Given the description of an element on the screen output the (x, y) to click on. 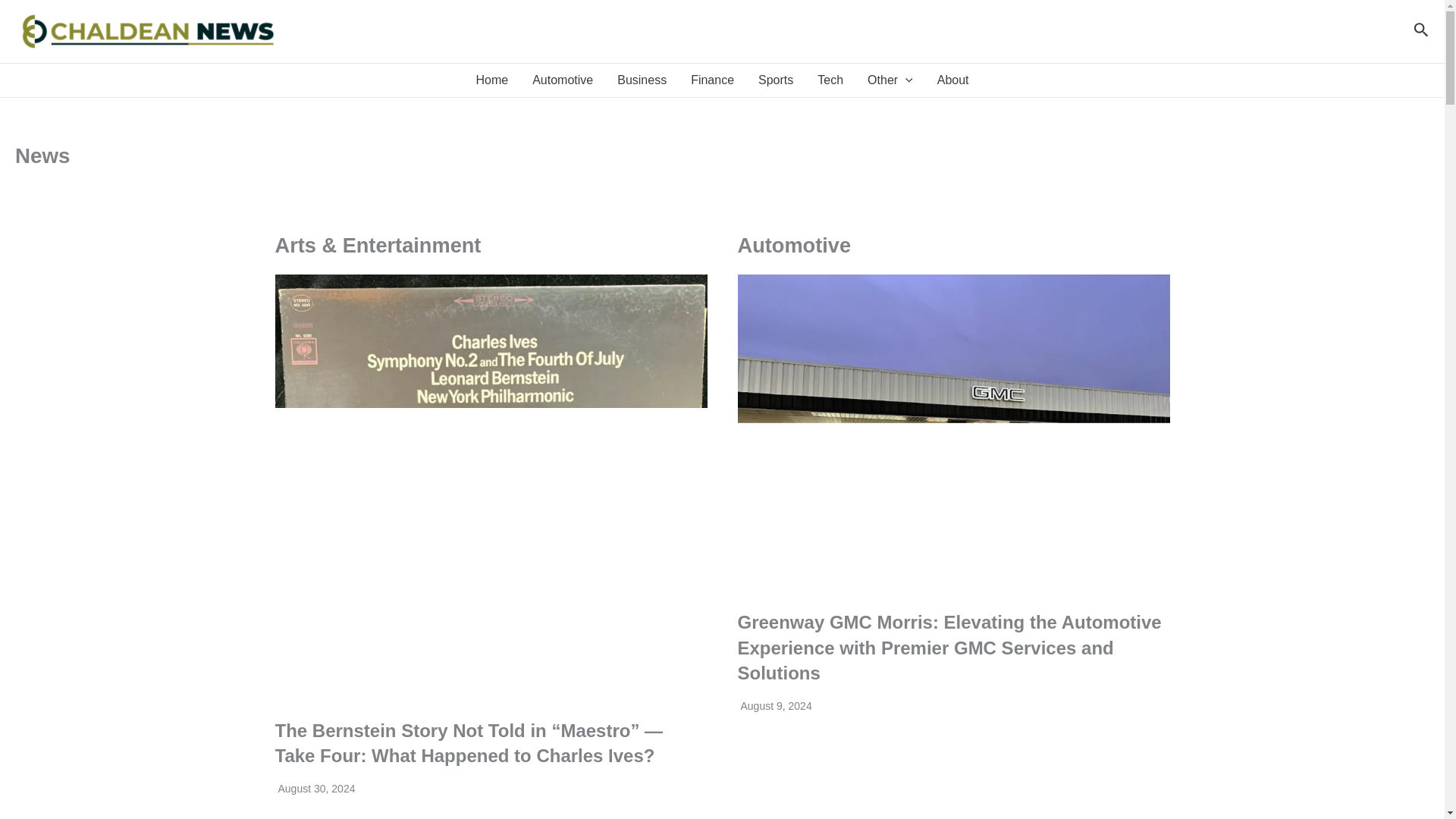
Tech (830, 80)
Home (491, 80)
Automotive (562, 80)
Other (890, 80)
Sports (775, 80)
About (952, 80)
Business (641, 80)
Finance (711, 80)
